Given the description of an element on the screen output the (x, y) to click on. 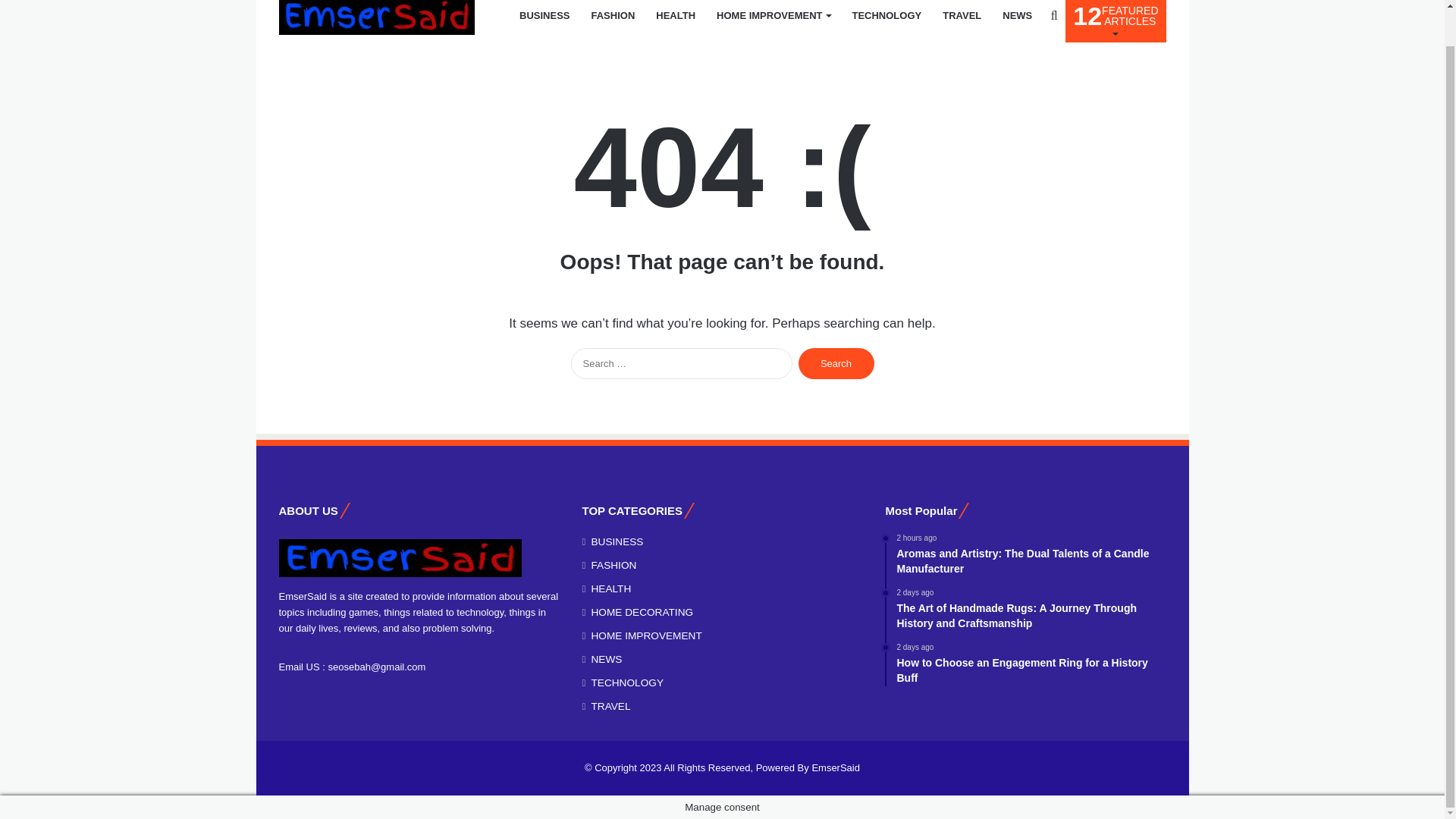
TECHNOLOGY (886, 21)
BUSINESS (543, 21)
Search (835, 363)
HOME IMPROVEMENT (773, 21)
TRAVEL (961, 21)
FASHION (613, 21)
Search (835, 363)
NEWS (1115, 21)
HEALTH (1016, 21)
Emser said (675, 21)
